Given the description of an element on the screen output the (x, y) to click on. 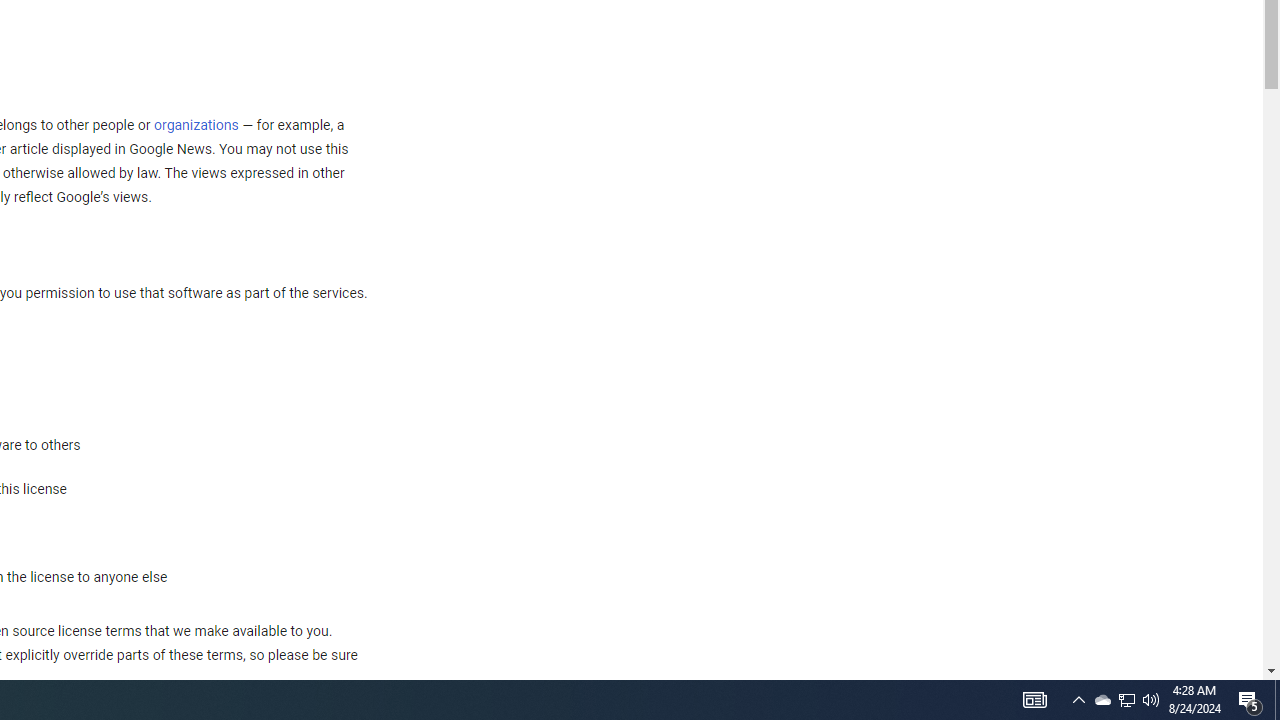
organizations (196, 125)
